Given the description of an element on the screen output the (x, y) to click on. 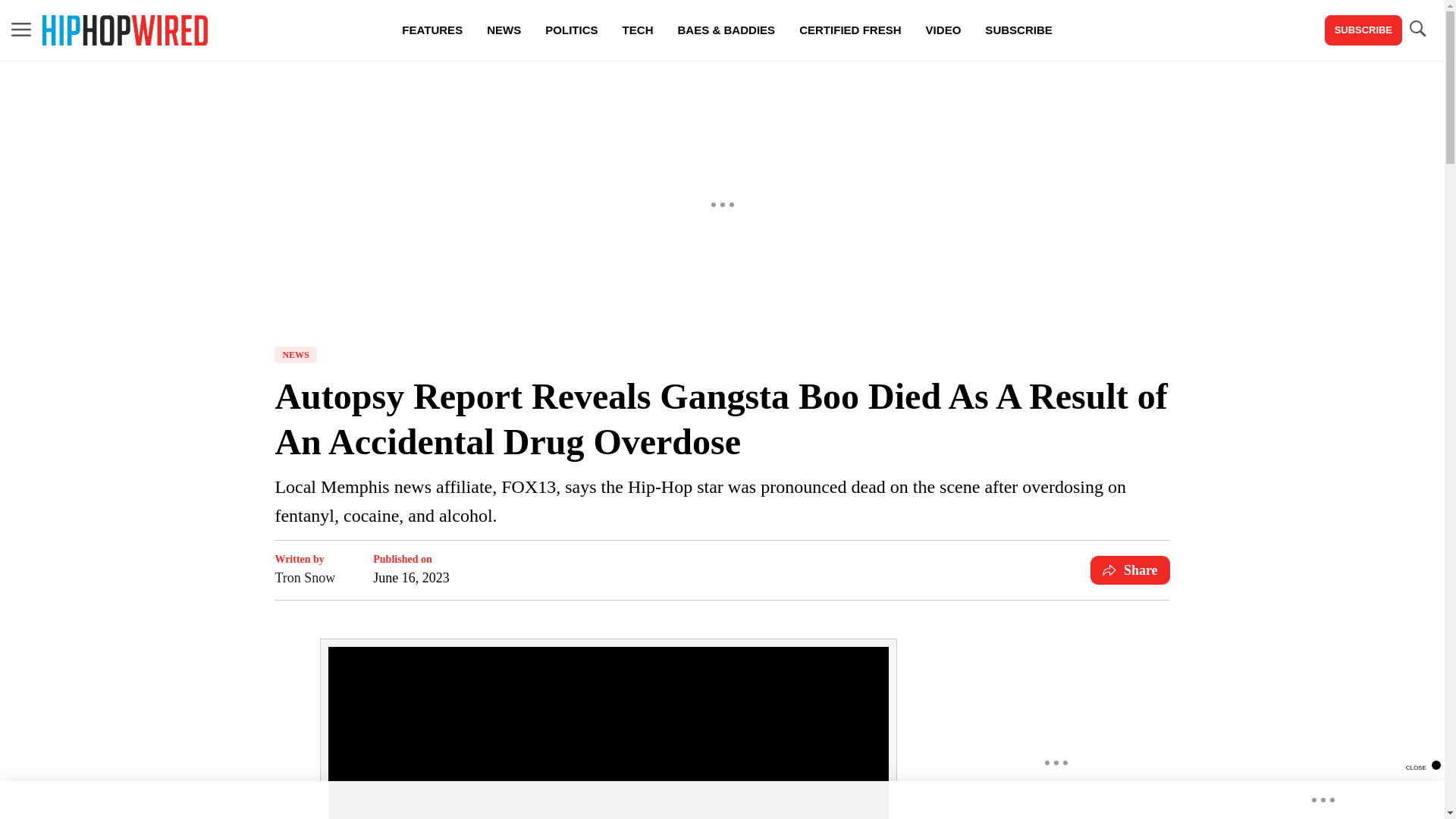
Tron Snow (304, 577)
NEWS (295, 354)
TECH (637, 30)
Share (1130, 570)
MENU (20, 30)
FEATURES (432, 30)
VIDEO (944, 30)
TOGGLE SEARCH (1417, 28)
CERTIFIED FRESH (849, 30)
NEWS (503, 30)
TOGGLE SEARCH (1417, 30)
POLITICS (571, 30)
SUBSCRIBE (1363, 30)
MENU (20, 29)
SUBSCRIBE (1018, 30)
